Given the description of an element on the screen output the (x, y) to click on. 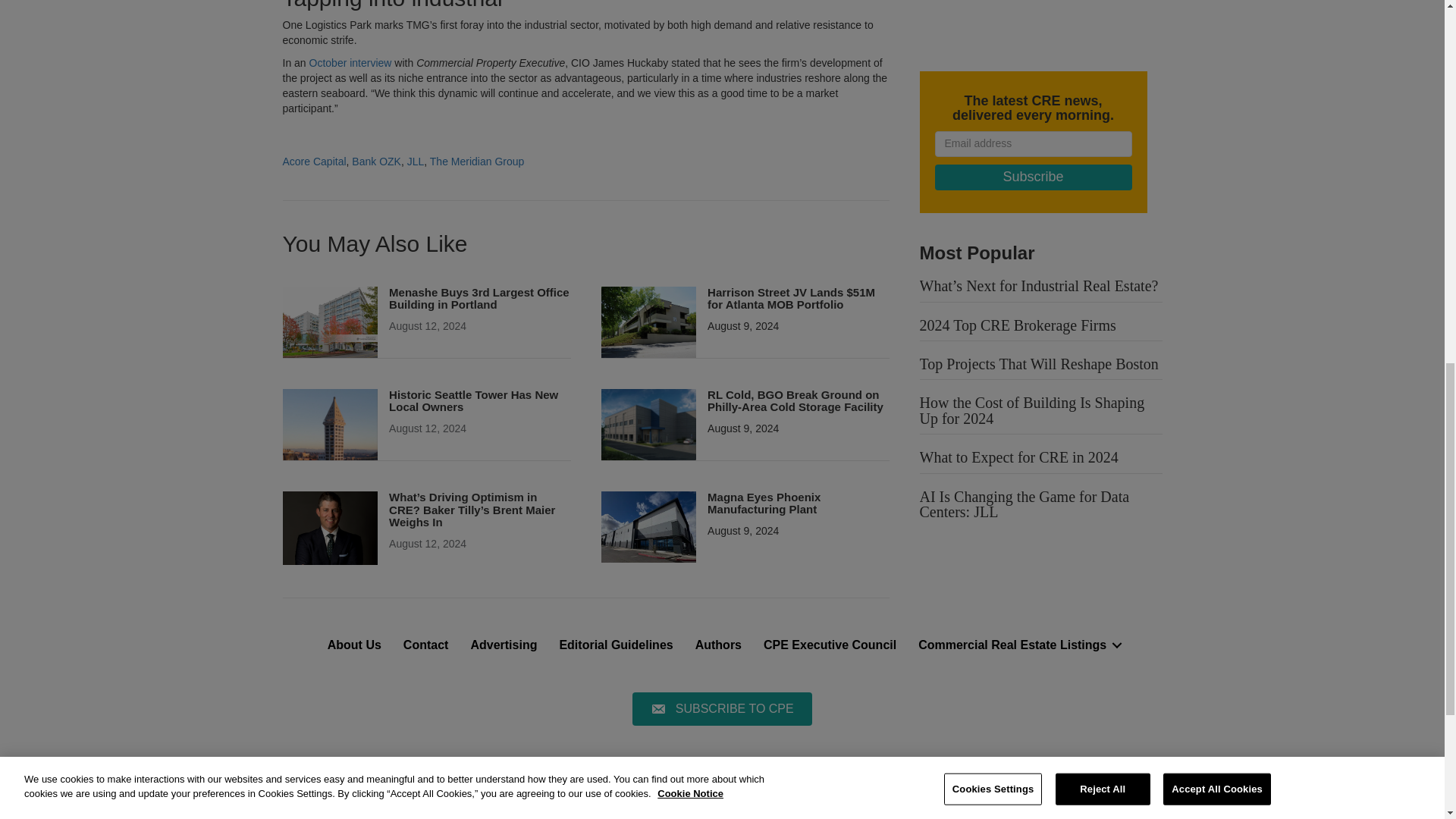
Menashe Buys 3rd Largest Office Building in Portland (478, 298)
Historic Seattle Tower Has New Local Owners (329, 423)
Magna Eyes Phoenix Manufacturing Plant (764, 503)
Historic Seattle Tower Has New Local Owners (472, 401)
Menashe Buys 3rd Largest Office Building in Portland (329, 321)
Magna Eyes Phoenix Manufacturing Plant (647, 526)
